Given the description of an element on the screen output the (x, y) to click on. 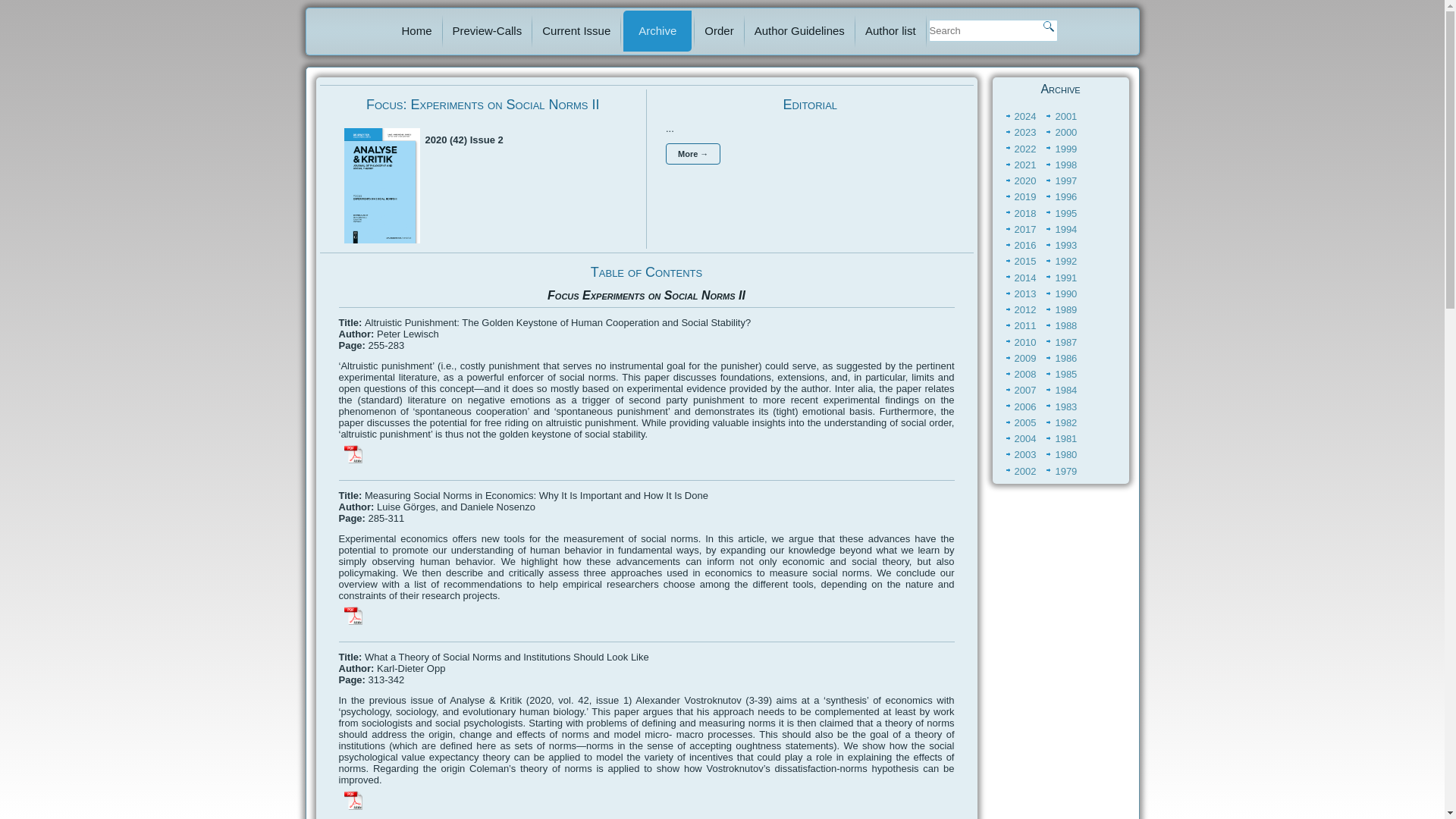
2020 (1025, 180)
Author list (890, 30)
Author Guidelines (798, 30)
2012 (1025, 309)
2011 (1025, 325)
2019 (1025, 196)
Ganzes Abstract als Download. (352, 800)
Ganzes Abstract als Download. (352, 615)
2005 (1025, 422)
2015 (1025, 260)
2013 (1025, 293)
2010 (1025, 342)
Home (416, 30)
2024 (1025, 116)
Current Issue (575, 30)
